Given the description of an element on the screen output the (x, y) to click on. 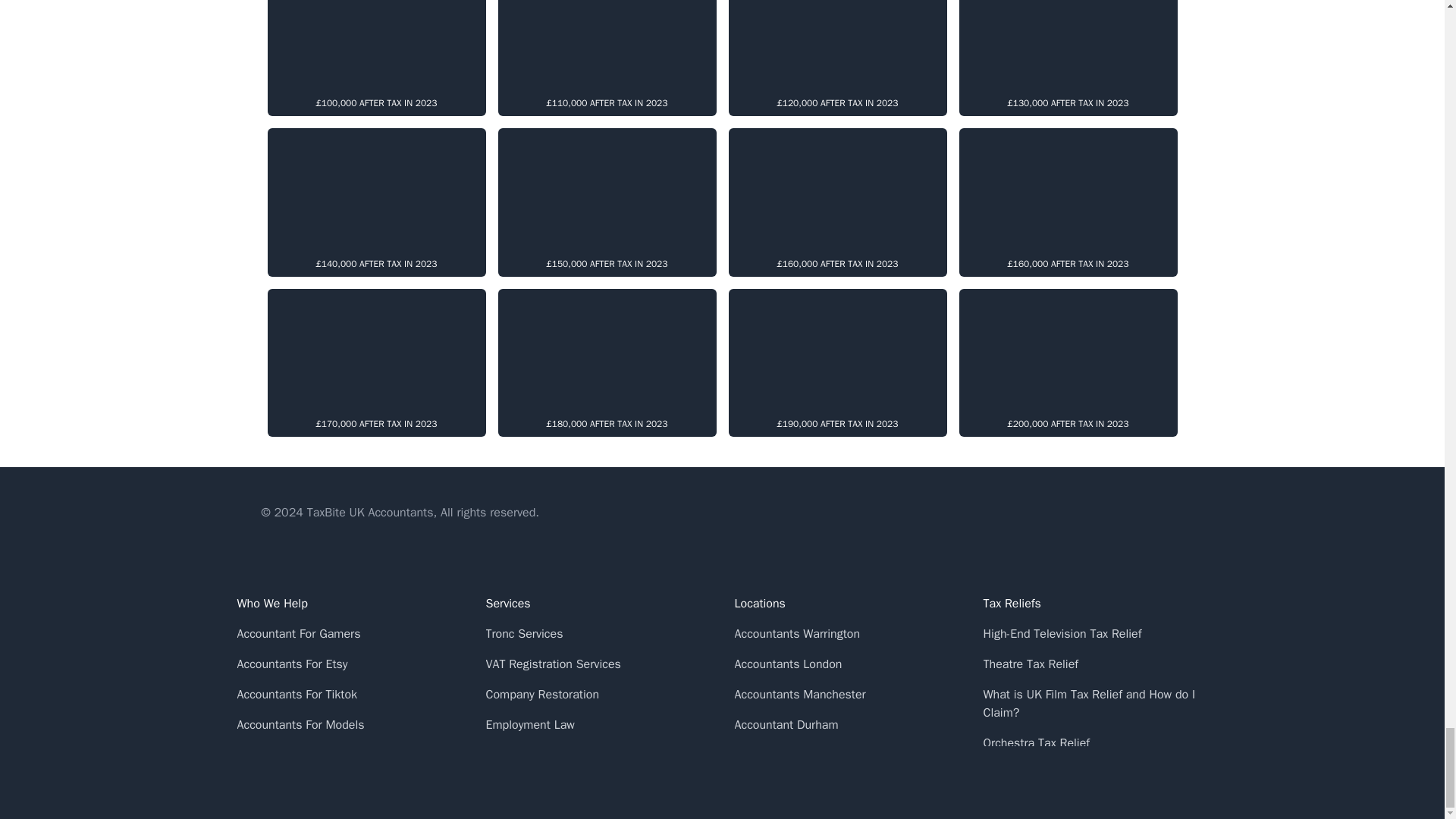
Accountants For Models (299, 724)
Accountant For Gamers (297, 633)
Accountants For Youtubers (306, 785)
Accountants For Etsy (291, 663)
Accountants For Tiktok (295, 694)
Accountants For Influencers (309, 754)
